Given the description of an element on the screen output the (x, y) to click on. 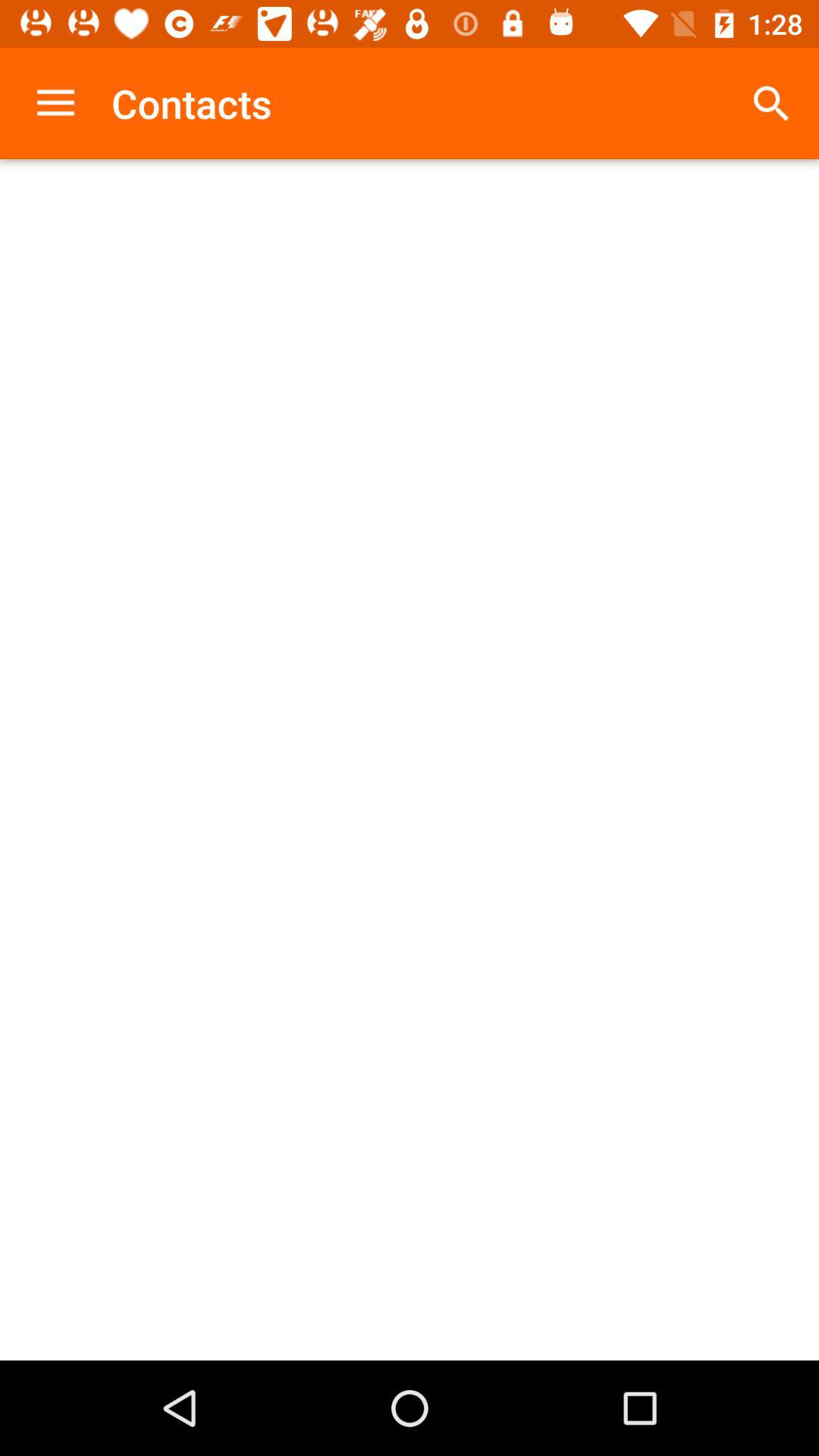
click the item next to the contacts icon (771, 103)
